Given the description of an element on the screen output the (x, y) to click on. 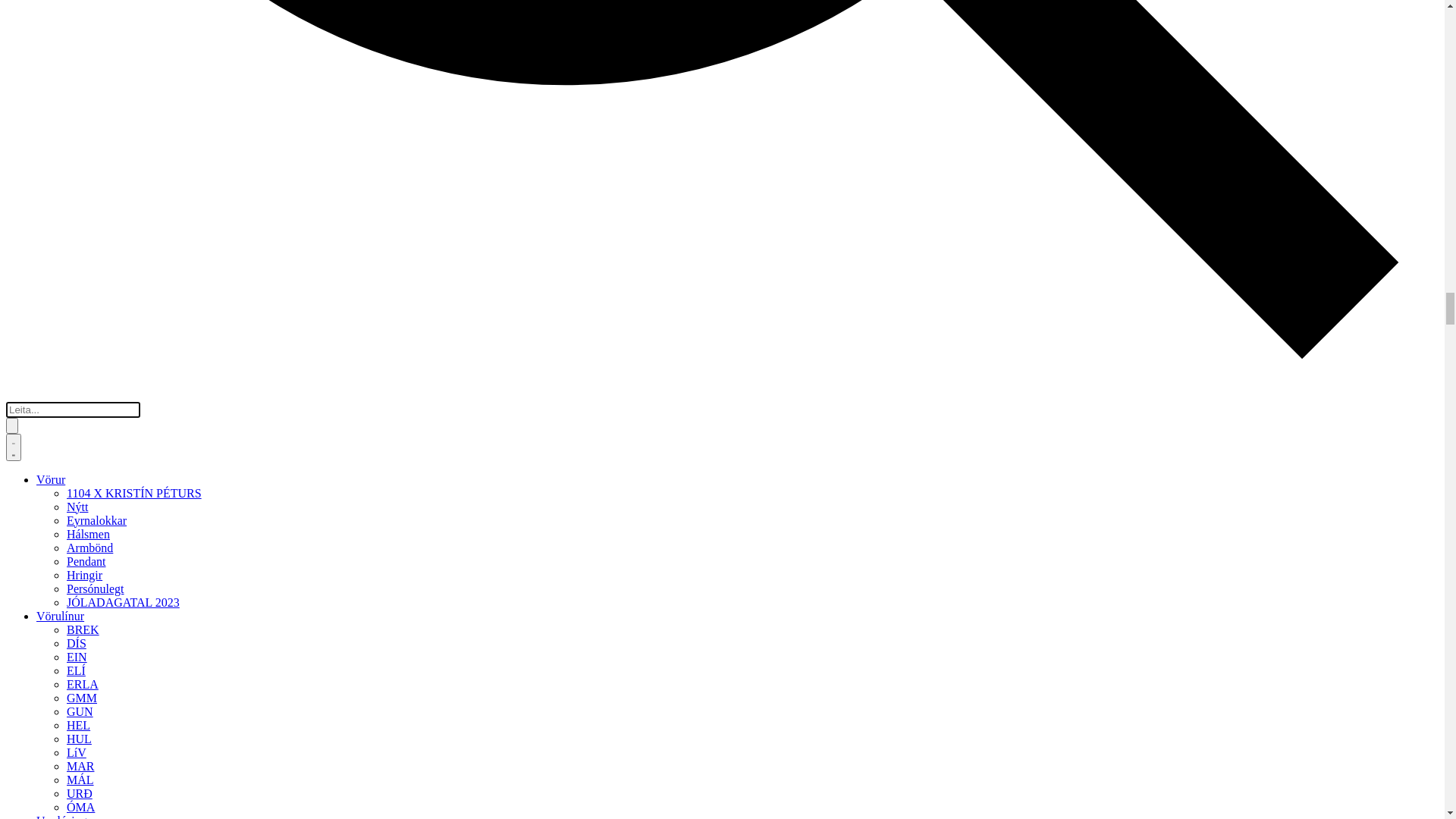
GUN Element type: text (19, 381)
Hringir Element type: text (23, 242)
Eyrnalokkar Element type: text (35, 188)
GMM Element type: text (21, 367)
Reikningur Element type: text (63, 614)
Um okkur Element type: text (30, 520)
ERLA Element type: text (21, 354)
HUL Element type: text (18, 408)
Pendant Element type: text (25, 228)
EIN Element type: text (16, 326)
HEL Element type: text (17, 395)
BREK Element type: text (22, 299)
MAR Element type: text (19, 435)
